Given the description of an element on the screen output the (x, y) to click on. 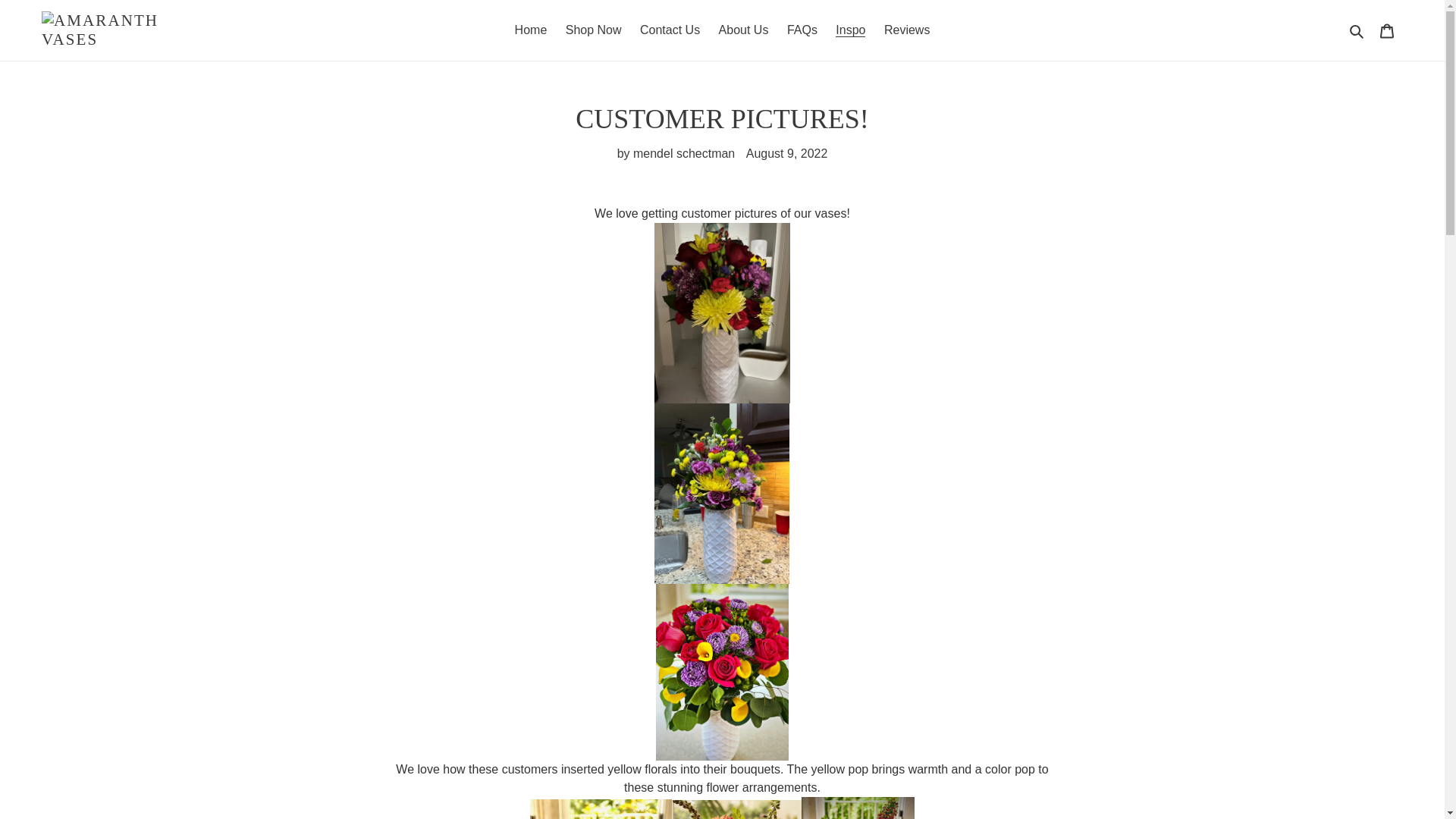
Inspo (850, 29)
Reviews (906, 29)
Shop Now (592, 29)
Contact Us (669, 29)
About Us (743, 29)
Home (530, 29)
FAQs (801, 29)
Cart (1387, 29)
Search (1357, 30)
